Given the description of an element on the screen output the (x, y) to click on. 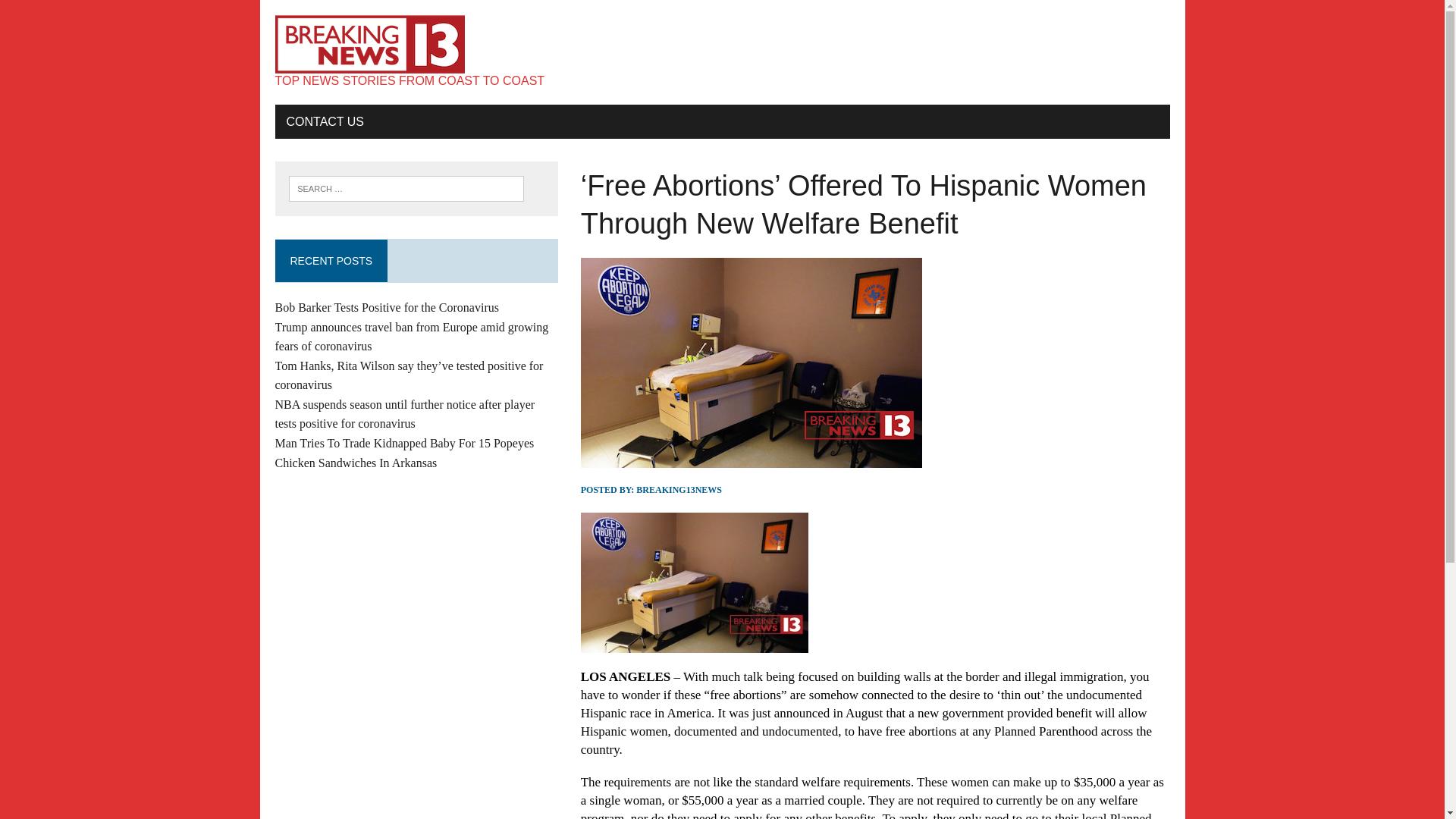
TOP NEWS STORIES FROM COAST TO COAST (722, 52)
CONTACT US (325, 121)
BREAKING13NEWS (679, 489)
Search (75, 14)
Bob Barker Tests Positive for the Coronavirus (386, 307)
